Given the description of an element on the screen output the (x, y) to click on. 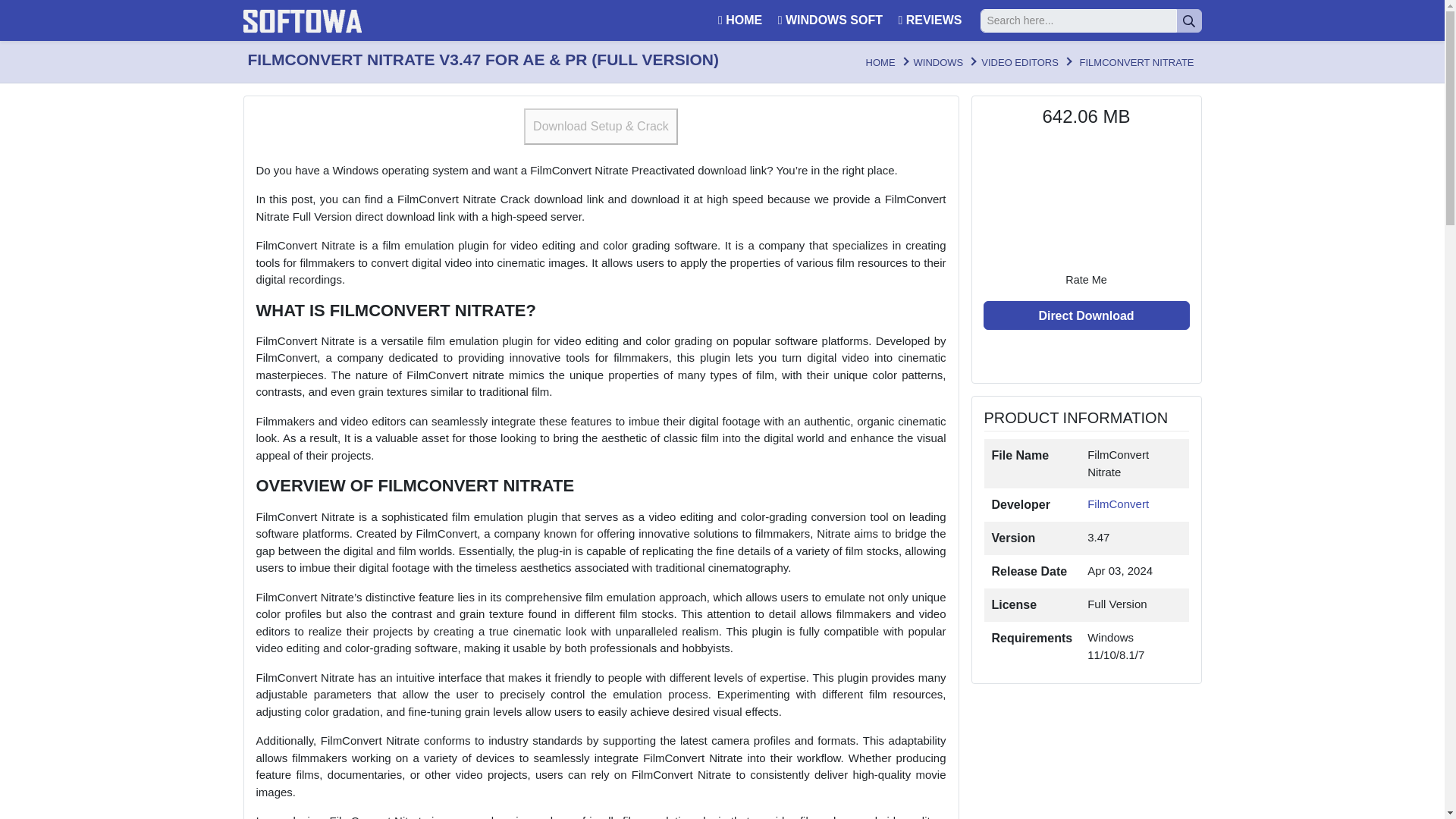
  REVIEWS (928, 20)
FilmConvert (1117, 503)
HOME (880, 61)
VIDEO EDITORS (1019, 61)
WINDOWS (938, 61)
Home (880, 61)
  HOME (737, 20)
  WINDOWS SOFT (828, 20)
Direct Download (1085, 315)
Join Telegram (1085, 356)
